Given the description of an element on the screen output the (x, y) to click on. 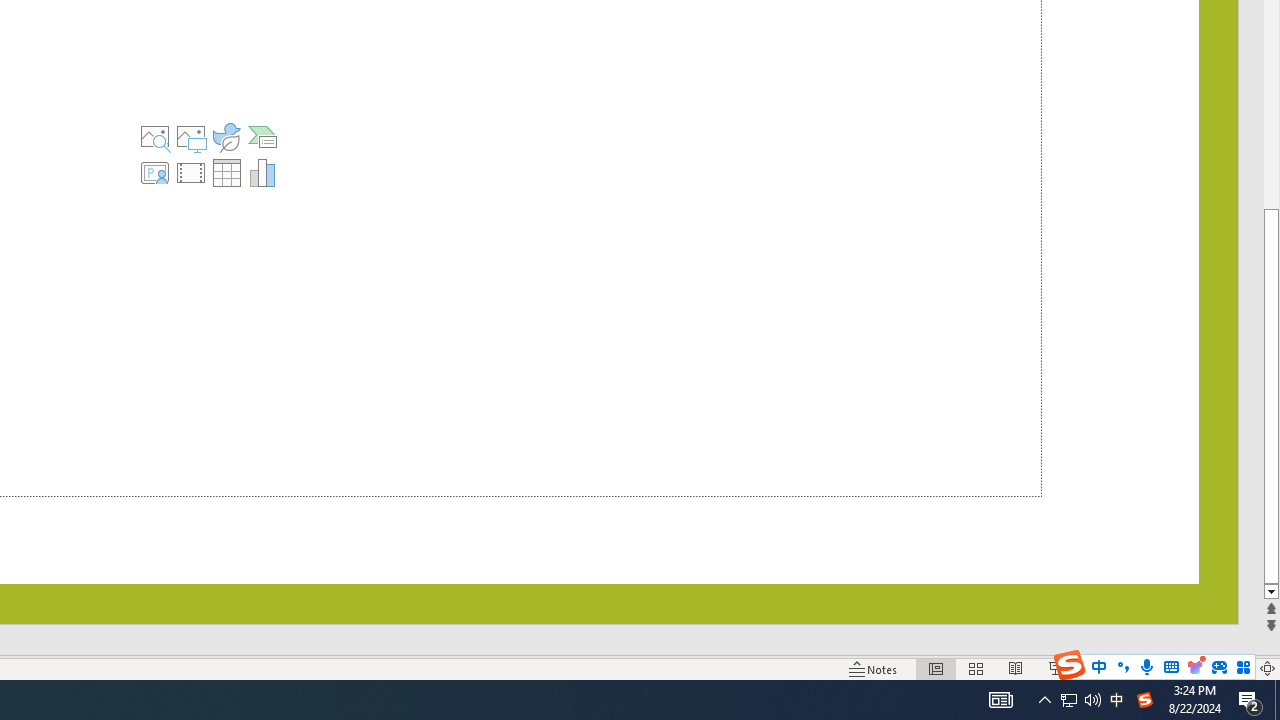
Zoom 161% (1234, 668)
